Given the description of an element on the screen output the (x, y) to click on. 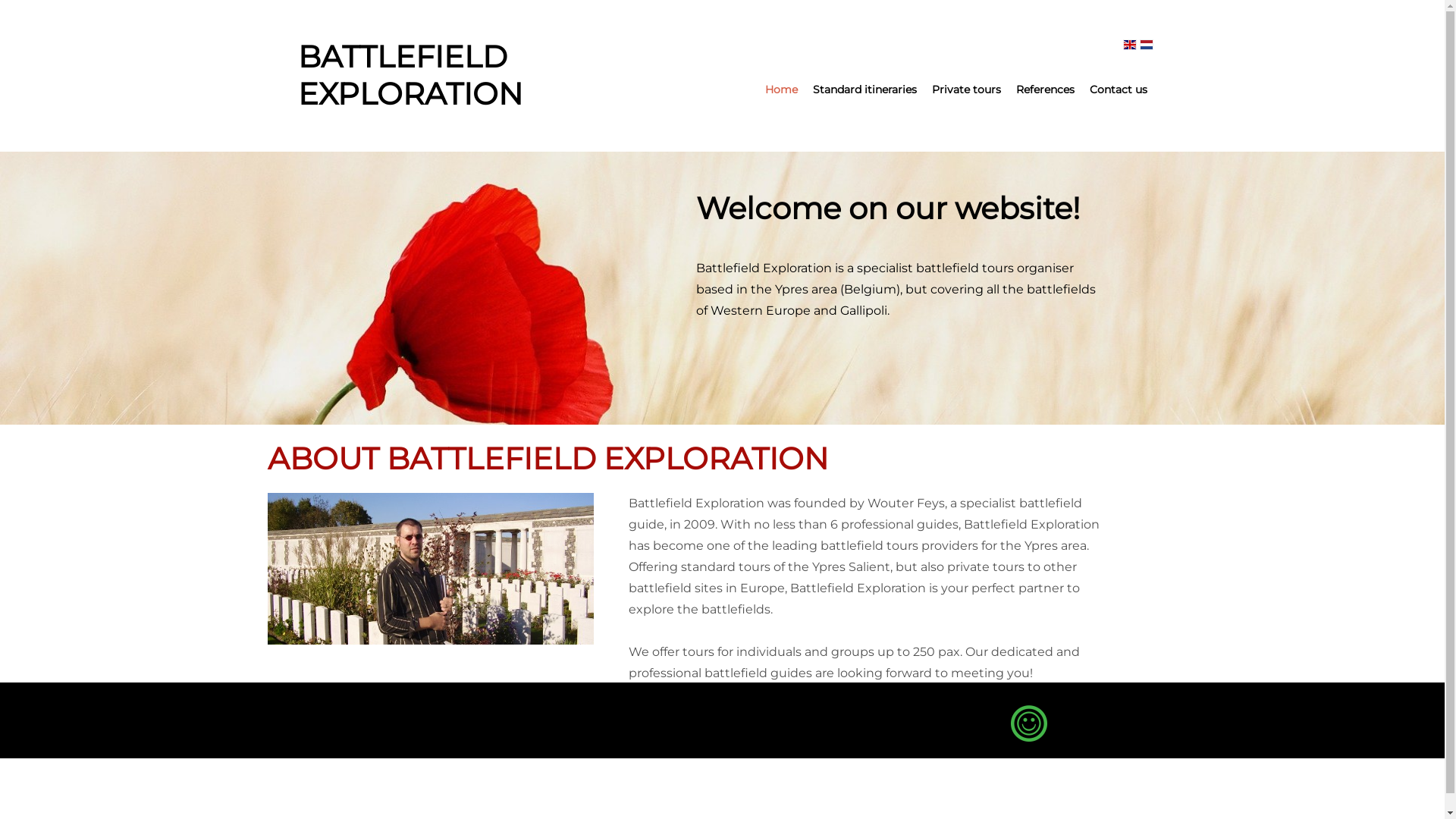
Private tours Element type: text (965, 89)
References Element type: text (1045, 89)
Nederlands Element type: hover (1145, 44)
Home Element type: text (780, 89)
English Element type: hover (1128, 44)
Standard itineraries Element type: text (864, 89)
Contact us Element type: text (1117, 89)
